Given the description of an element on the screen output the (x, y) to click on. 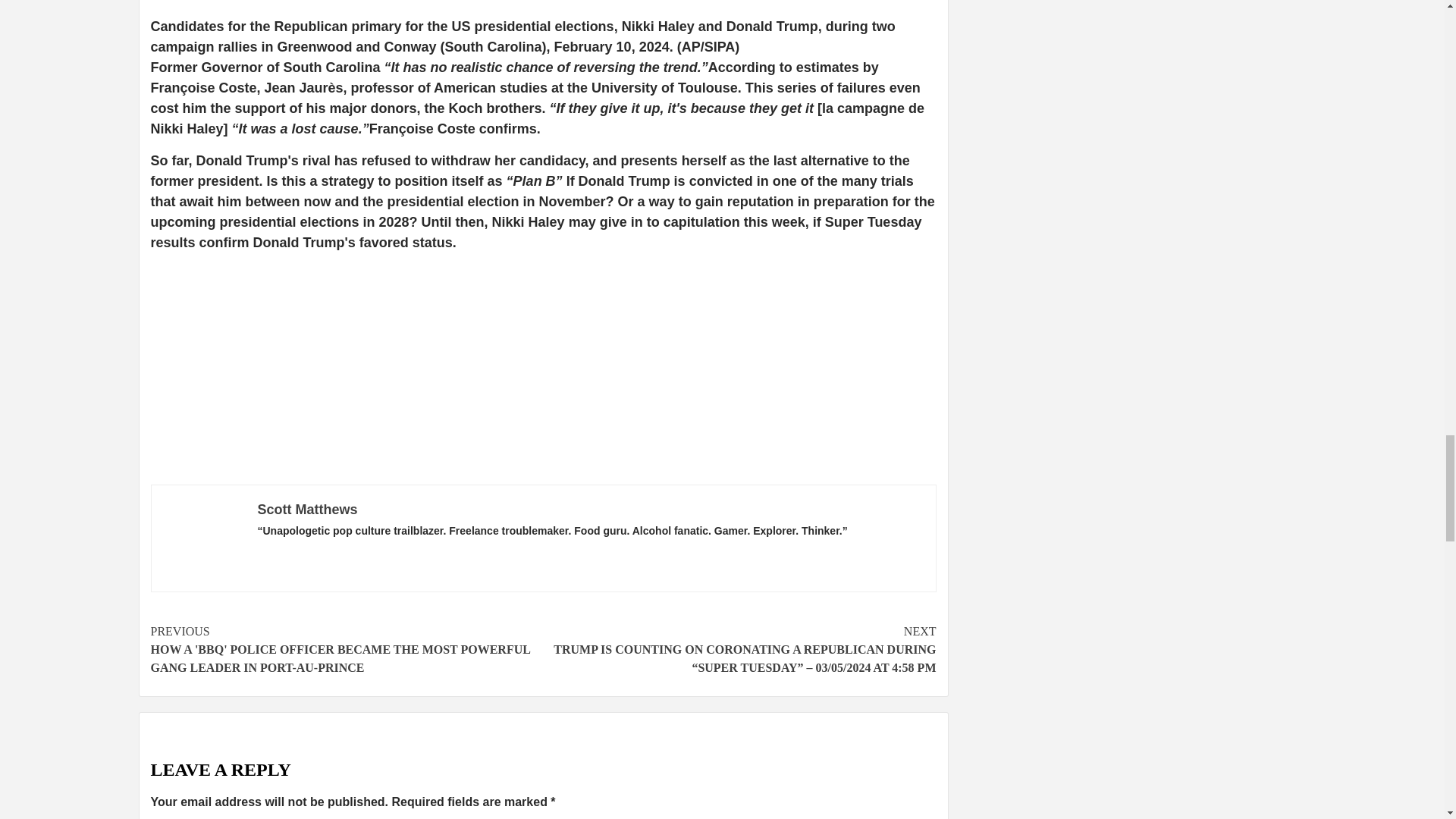
Scott Matthews (307, 509)
